Given the description of an element on the screen output the (x, y) to click on. 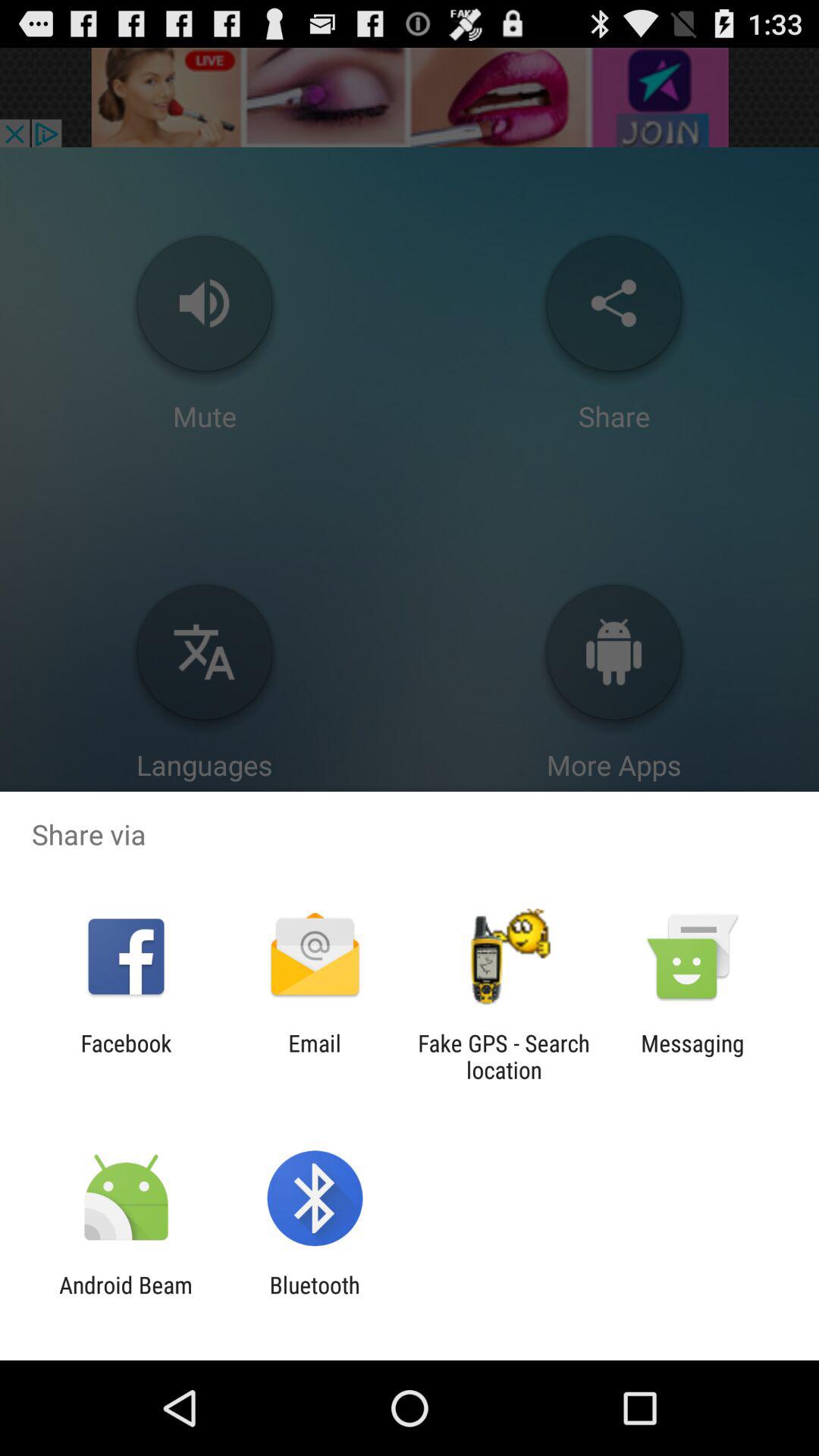
swipe to the messaging item (692, 1056)
